Given the description of an element on the screen output the (x, y) to click on. 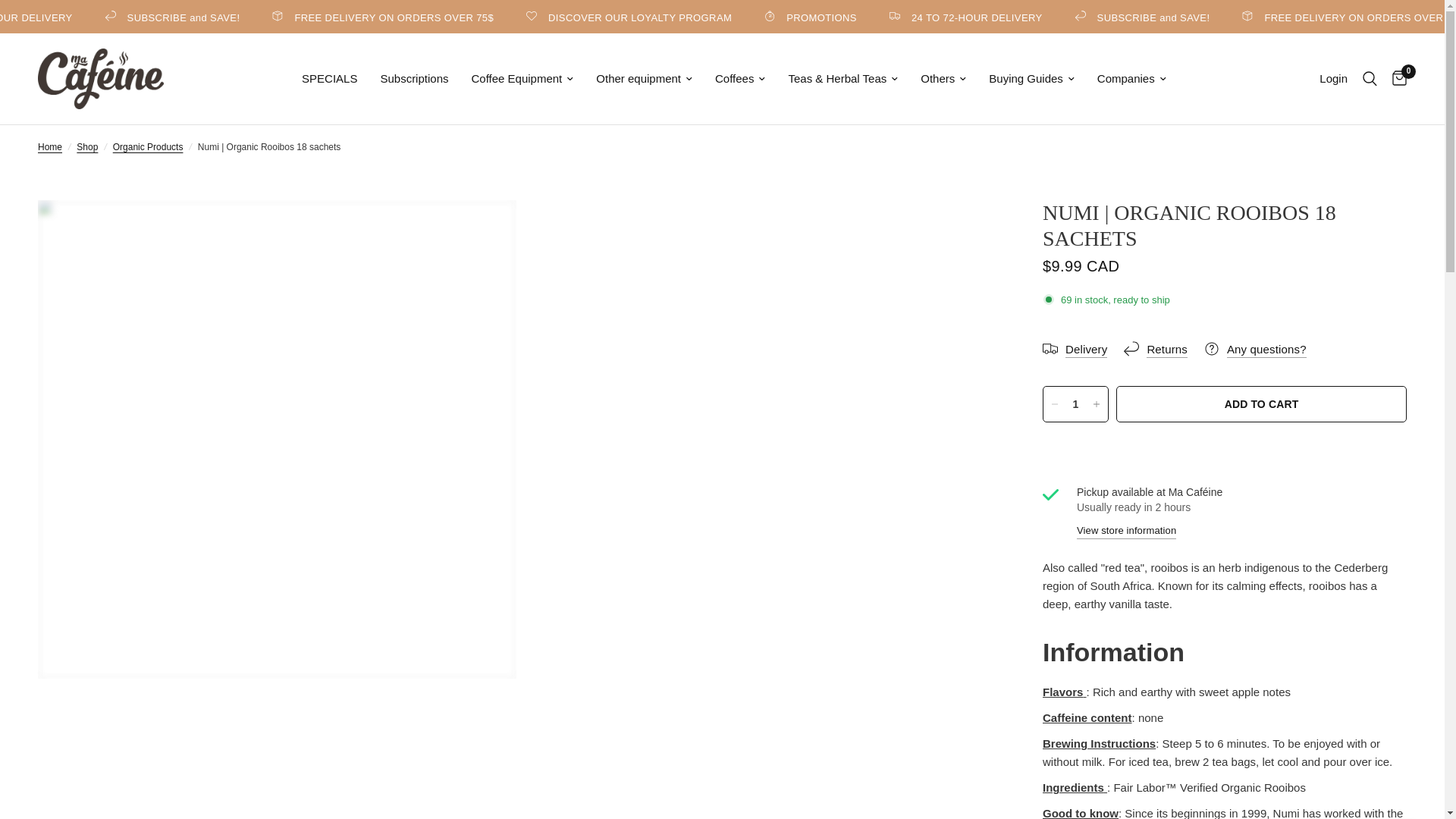
24 TO 72-HOUR DELIVERY (128, 16)
DISCOVER OUR LOYALTY PROGRAM (759, 16)
SUBSCRIBE and SAVE! (303, 16)
SUBSCRIBE and SAVE! (1270, 16)
24 TO 72-HOUR DELIVERY (1095, 16)
PROMOTIONS (940, 16)
